Given the description of an element on the screen output the (x, y) to click on. 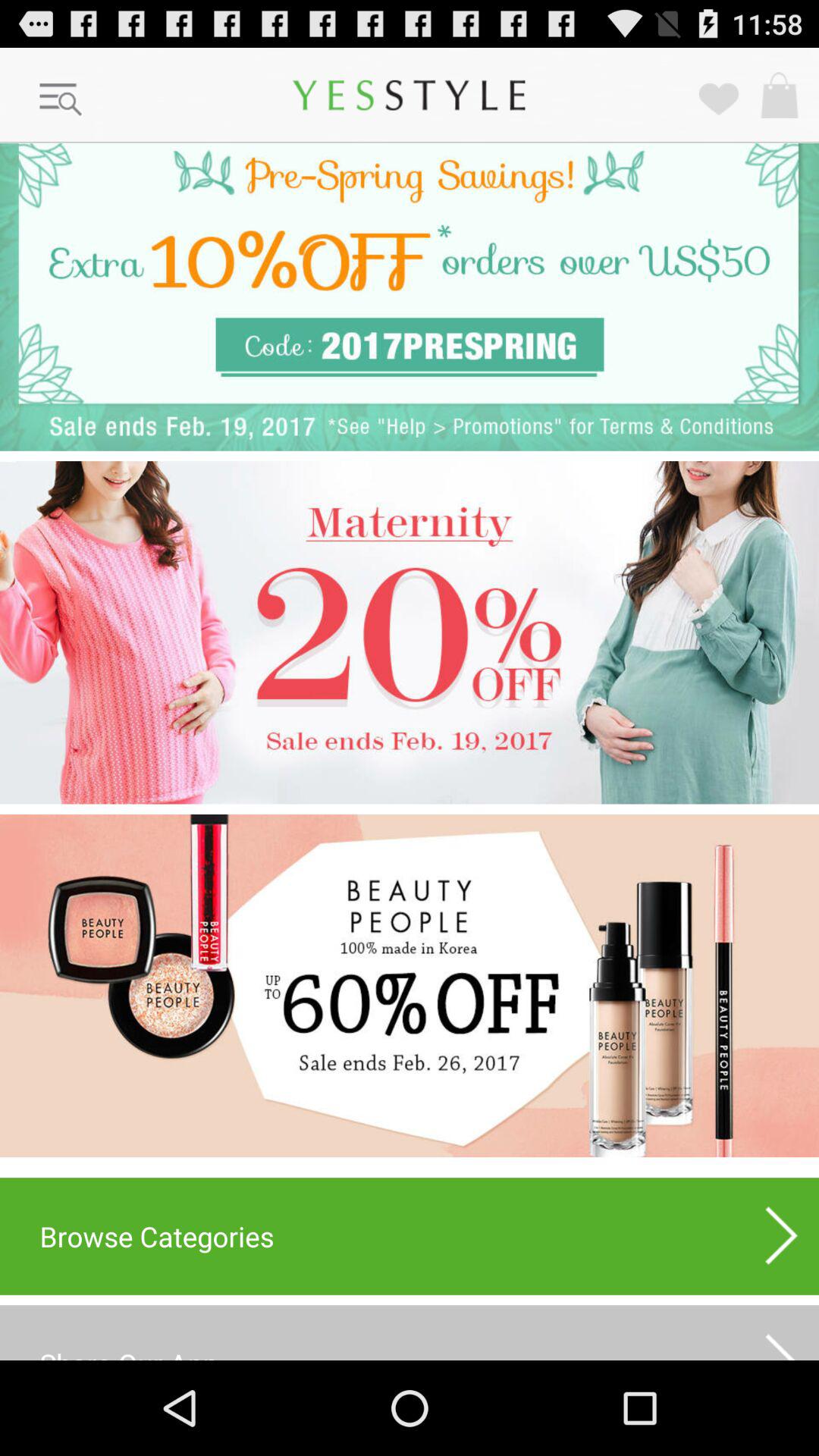
menu options (61, 100)
